Given the description of an element on the screen output the (x, y) to click on. 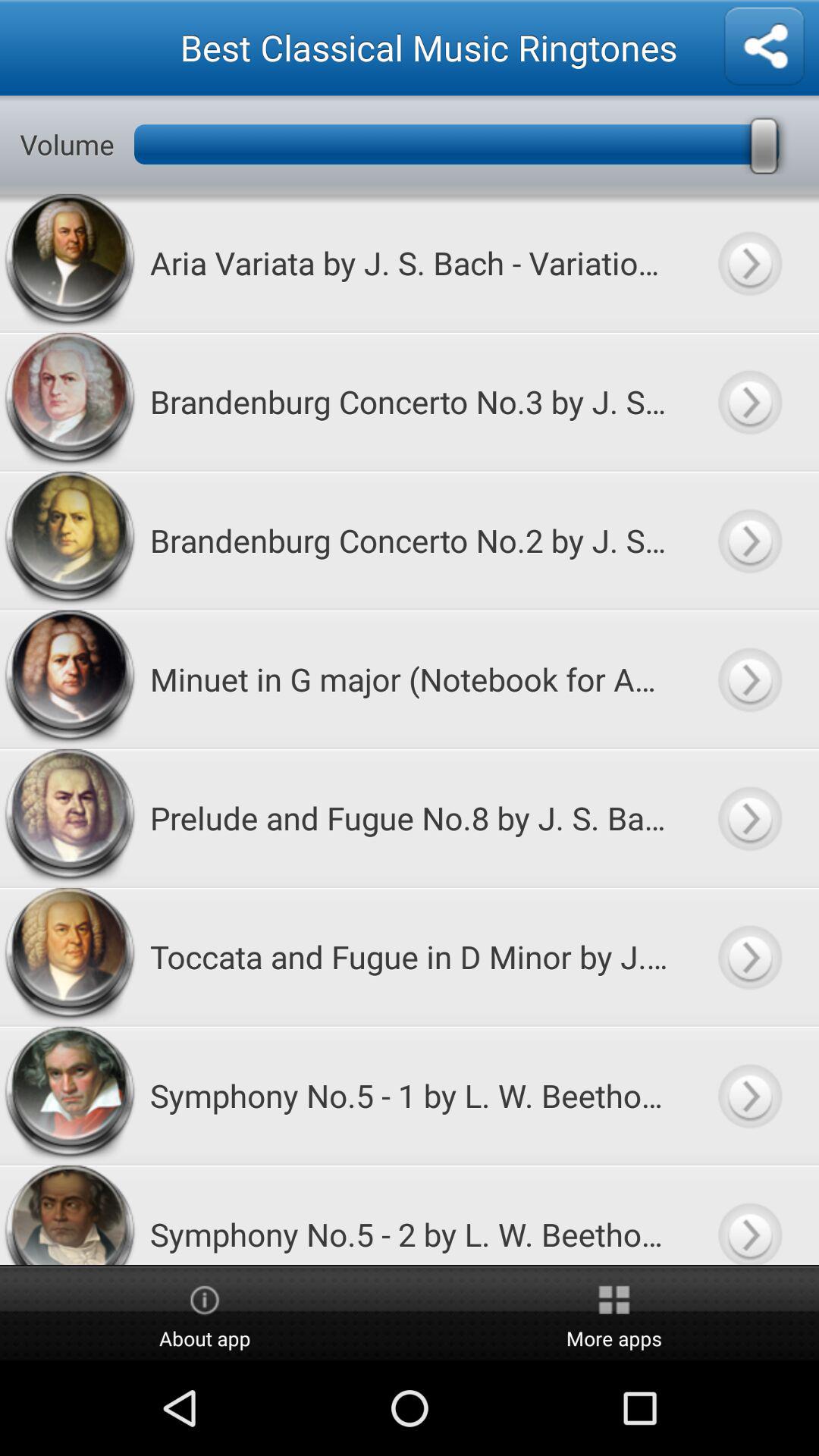
play ringtone (749, 679)
